Given the description of an element on the screen output the (x, y) to click on. 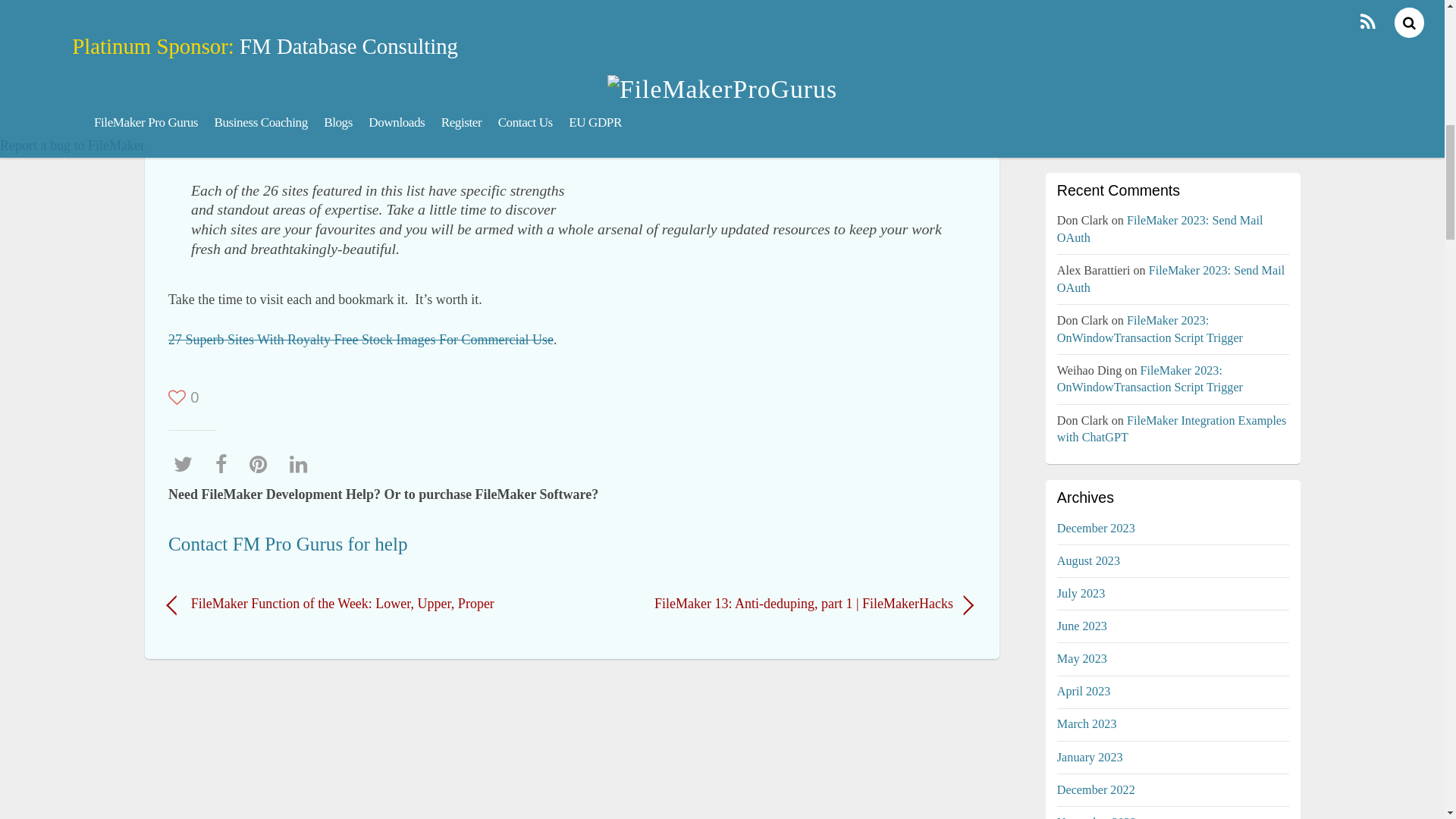
Shutterstock (315, 113)
iStockPhoto (231, 113)
LinkedIn (302, 464)
commercial use (384, 142)
Contact FM Pro Gurus for help (287, 543)
Pinterest (261, 464)
Twitter (186, 464)
